Given the description of an element on the screen output the (x, y) to click on. 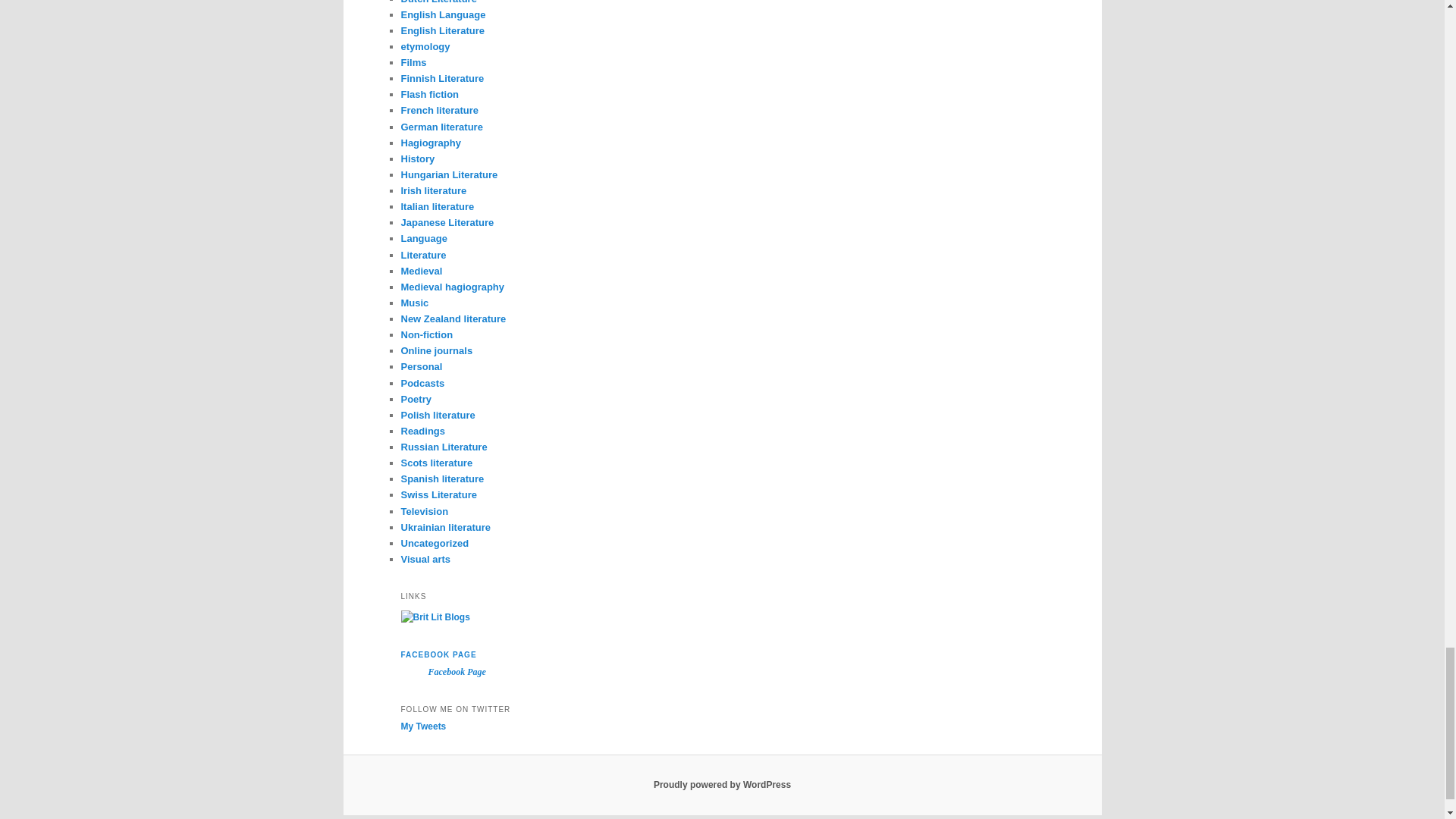
Semantic Personal Publishing Platform (721, 784)
